Given the description of an element on the screen output the (x, y) to click on. 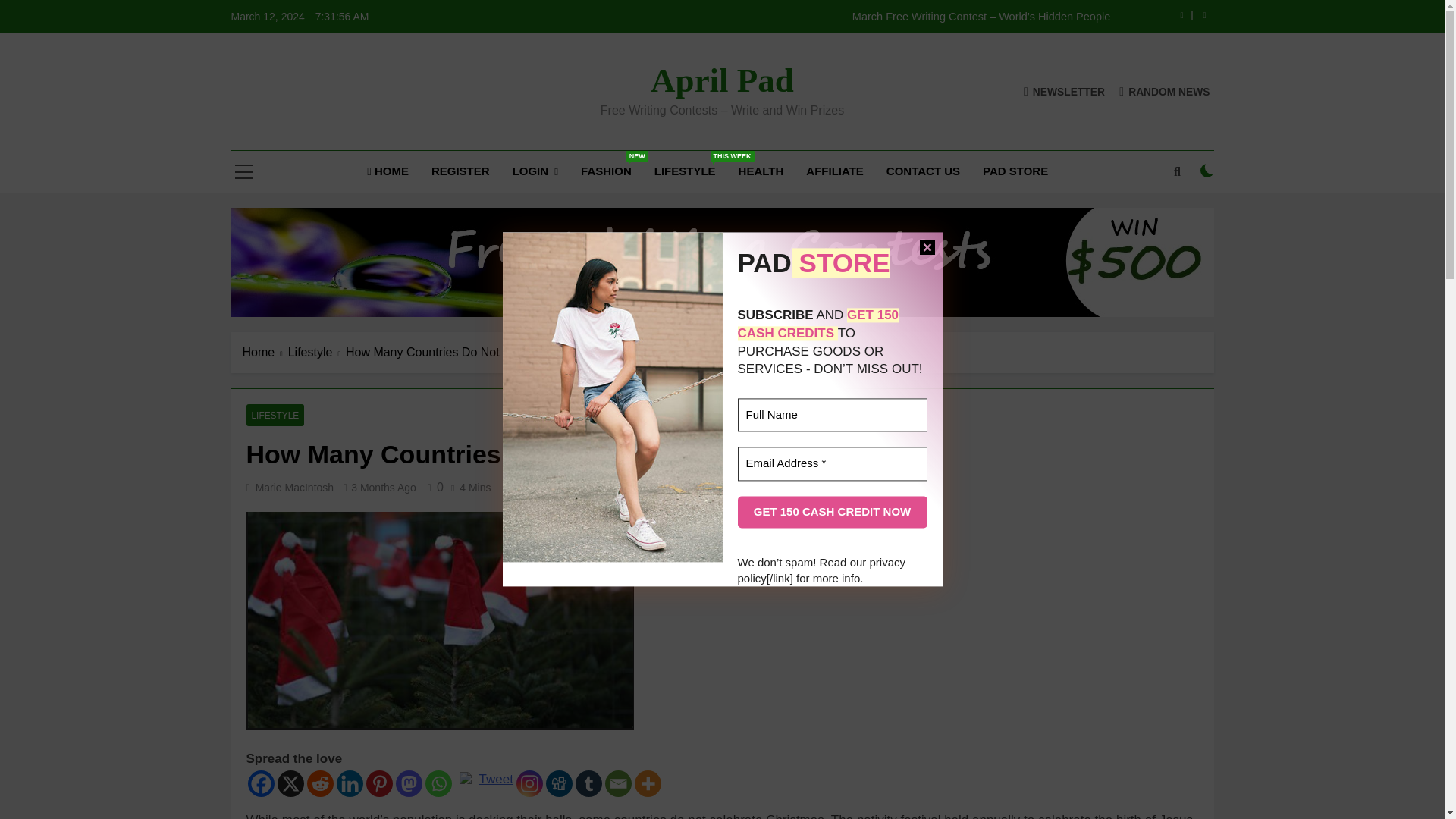
Whatsapp (438, 783)
Mastodon (409, 783)
HOME (387, 170)
Facebook (260, 783)
GET 150 CASH CREDIT NOW (831, 512)
RANDOM NEWS (1164, 91)
Reddit (319, 783)
REGISTER (460, 170)
on (1206, 170)
April Pad (721, 80)
NEWSLETTER (1064, 91)
Linkedin (349, 783)
Pinterest (378, 783)
X (291, 783)
Instagram (529, 783)
